Given the description of an element on the screen output the (x, y) to click on. 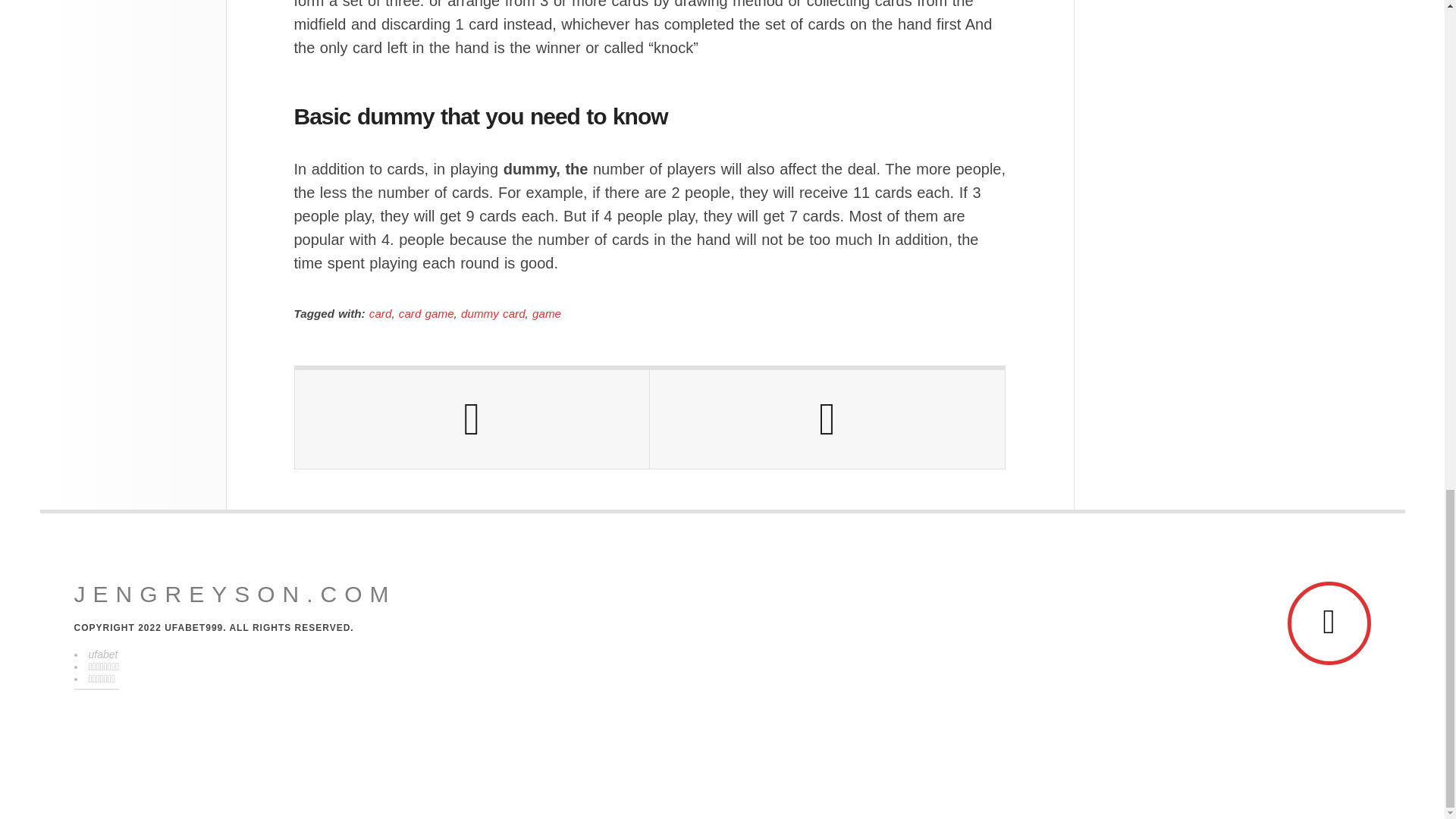
card game (426, 313)
jengreyson.com (235, 594)
game (546, 313)
Next Post (826, 419)
dummy card (493, 313)
Previous Post (471, 419)
card (380, 313)
